Given the description of an element on the screen output the (x, y) to click on. 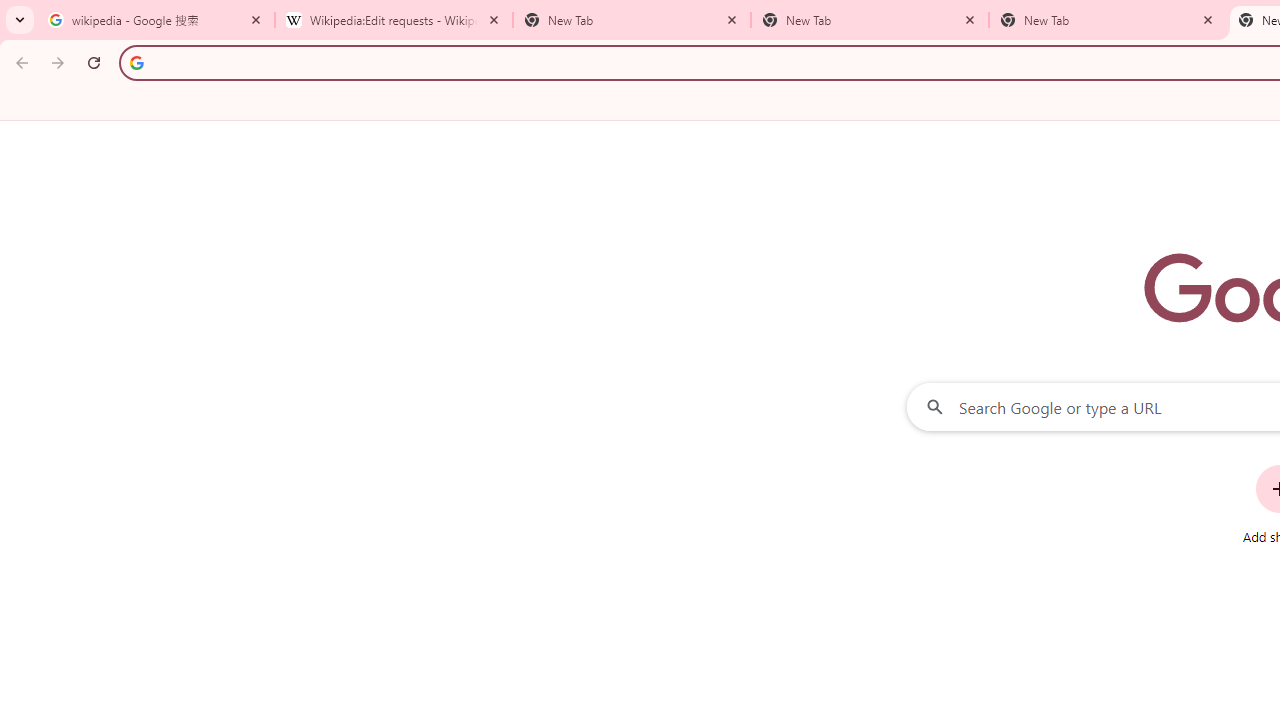
System (10, 11)
Wikipedia:Edit requests - Wikipedia (394, 20)
Reload (93, 62)
System (10, 11)
New Tab (632, 20)
Close (1208, 19)
Search icon (136, 62)
New Tab (1108, 20)
Back (19, 62)
Forward (57, 62)
Search tabs (20, 20)
New Tab (870, 20)
